Given the description of an element on the screen output the (x, y) to click on. 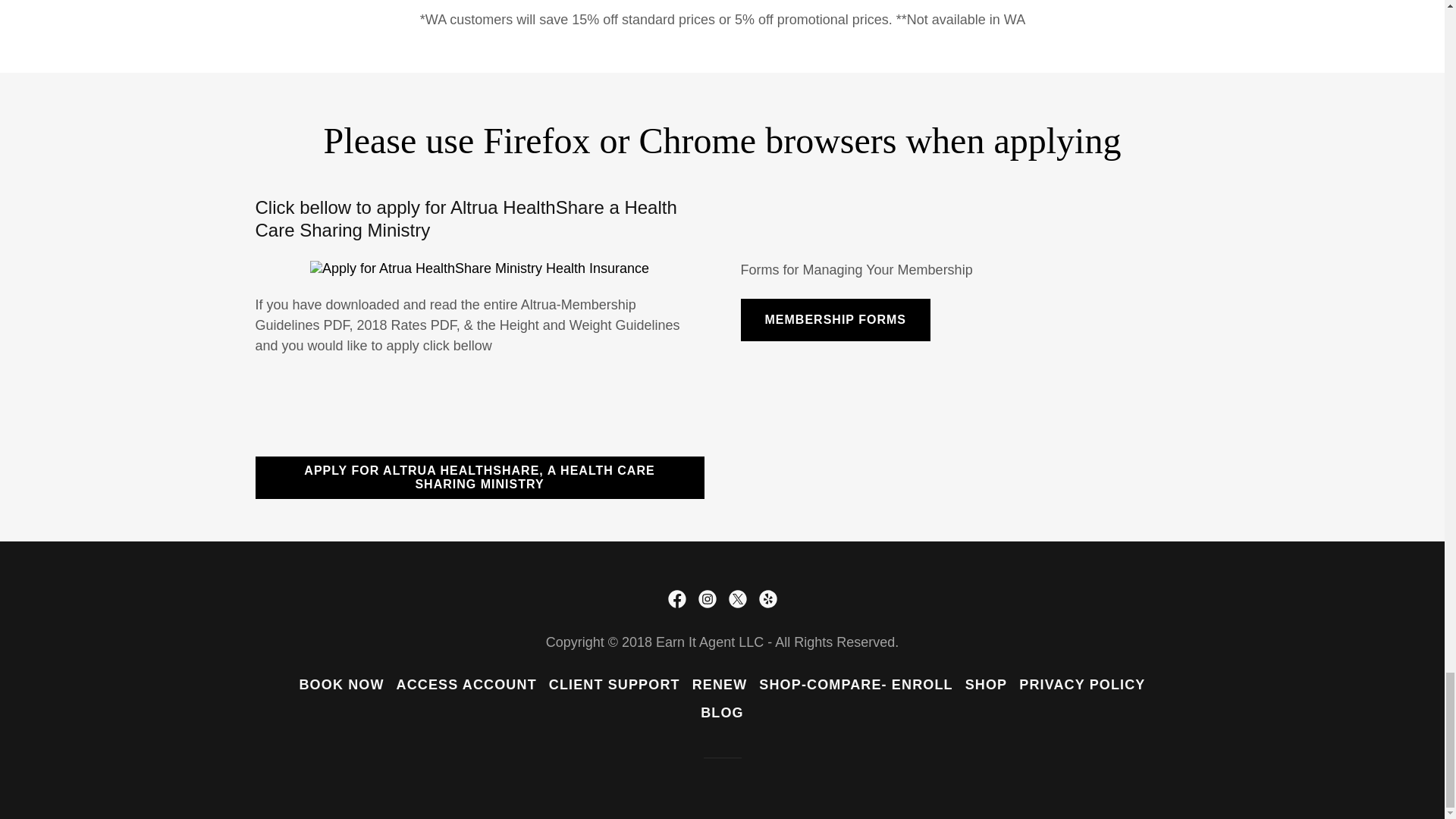
PRIVACY POLICY (1082, 684)
BLOG (721, 713)
MEMBERSHIP FORMS (834, 319)
RENEW (719, 684)
APPLY FOR ALTRUA HEALTHSHARE, A HEALTH CARE SHARING MINISTRY (478, 477)
CLIENT SUPPORT (614, 684)
BOOK NOW (341, 684)
SHOP-COMPARE- ENROLL (855, 684)
SHOP (986, 684)
ACCESS ACCOUNT (466, 684)
